Given the description of an element on the screen output the (x, y) to click on. 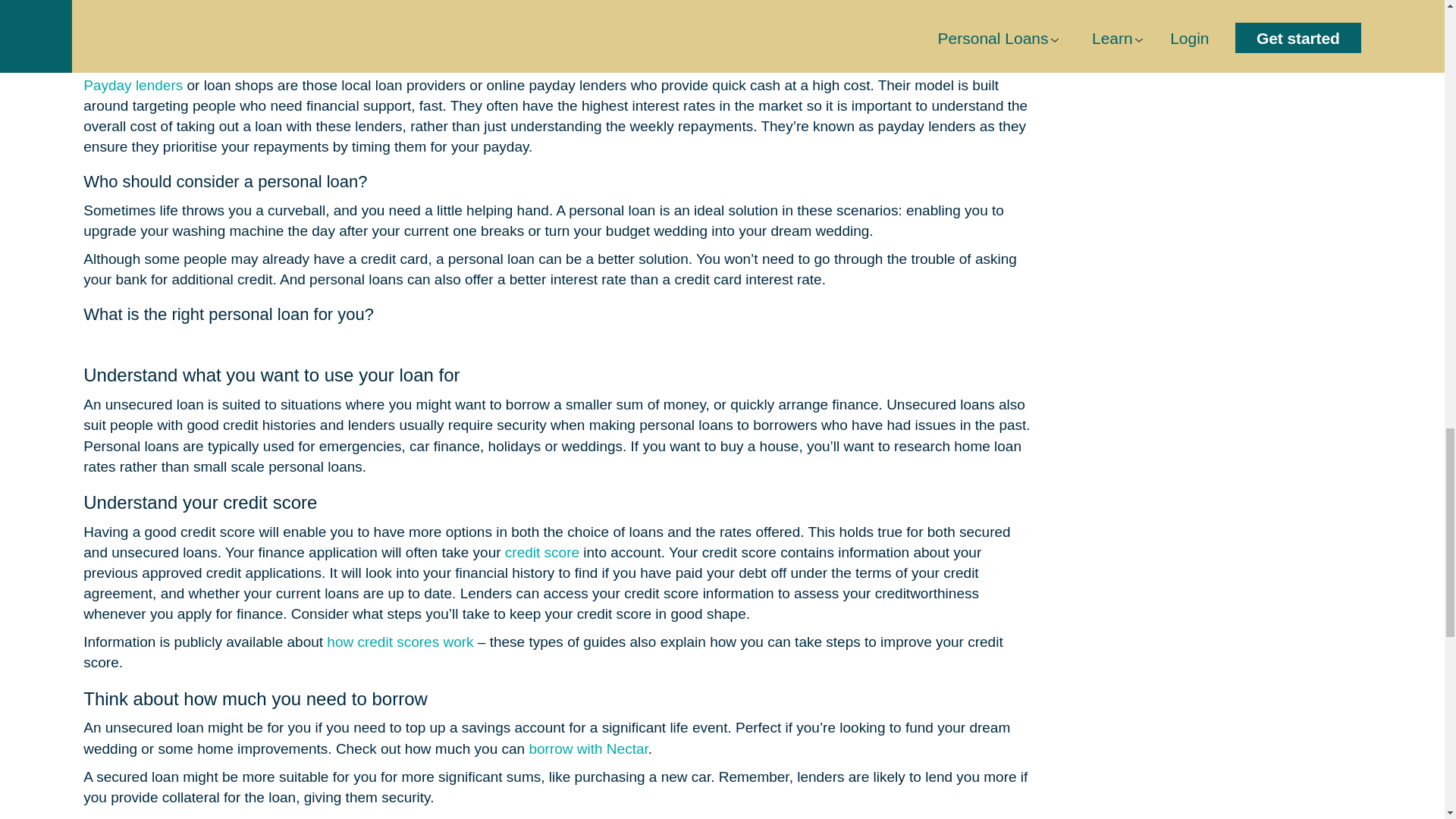
credit score (542, 552)
how credit scores work (399, 641)
borrow with Nectar (587, 748)
Payday lenders (132, 84)
